Given the description of an element on the screen output the (x, y) to click on. 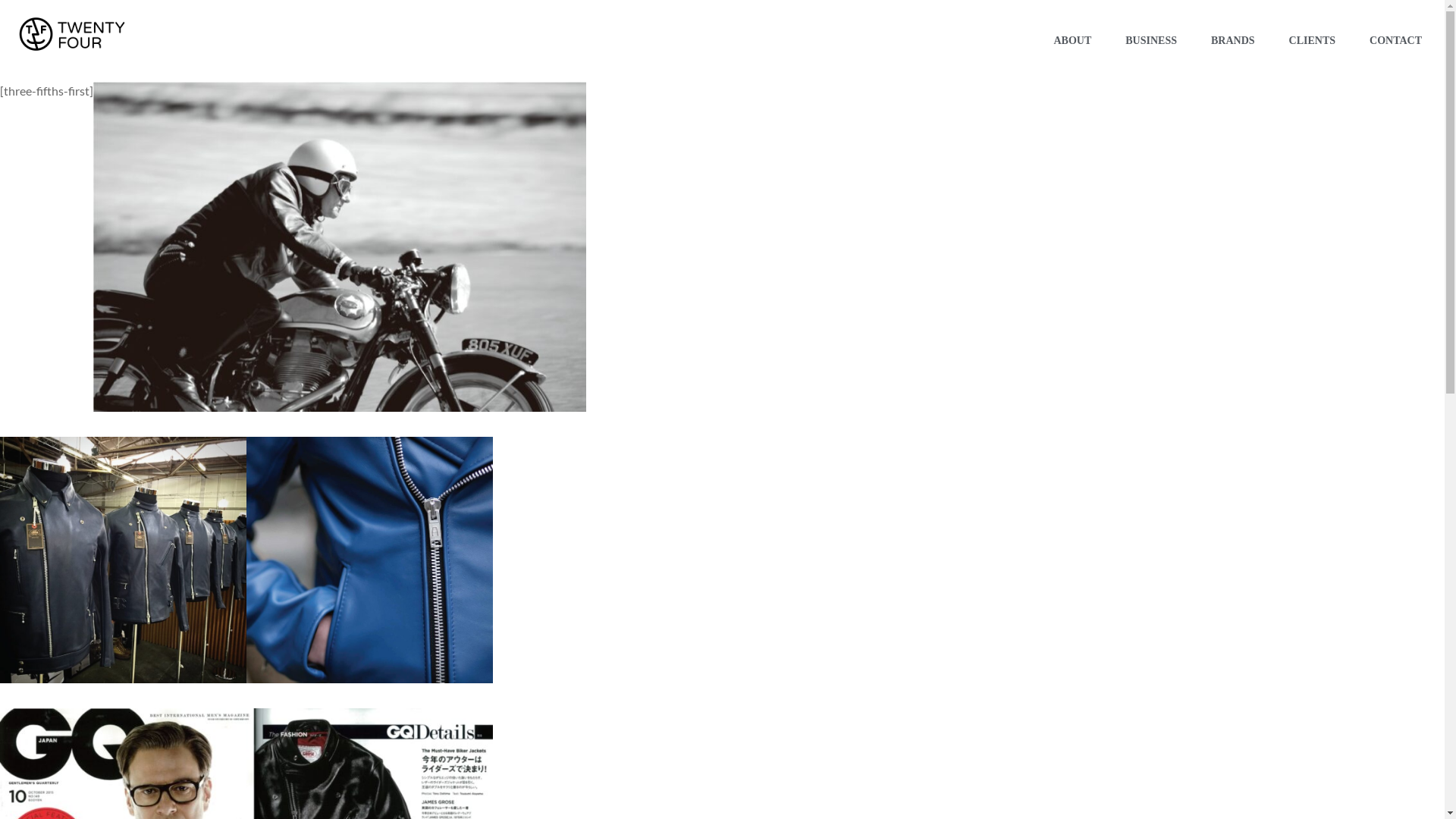
24-LOGO-2021 Element type: hover (71, 34)
ABOUT Element type: text (1072, 40)
CLIENTS Element type: text (1312, 40)
BUSINESS Element type: text (1151, 40)
CONTACT Element type: text (1395, 40)
BRANDS Element type: text (1232, 40)
